Given the description of an element on the screen output the (x, y) to click on. 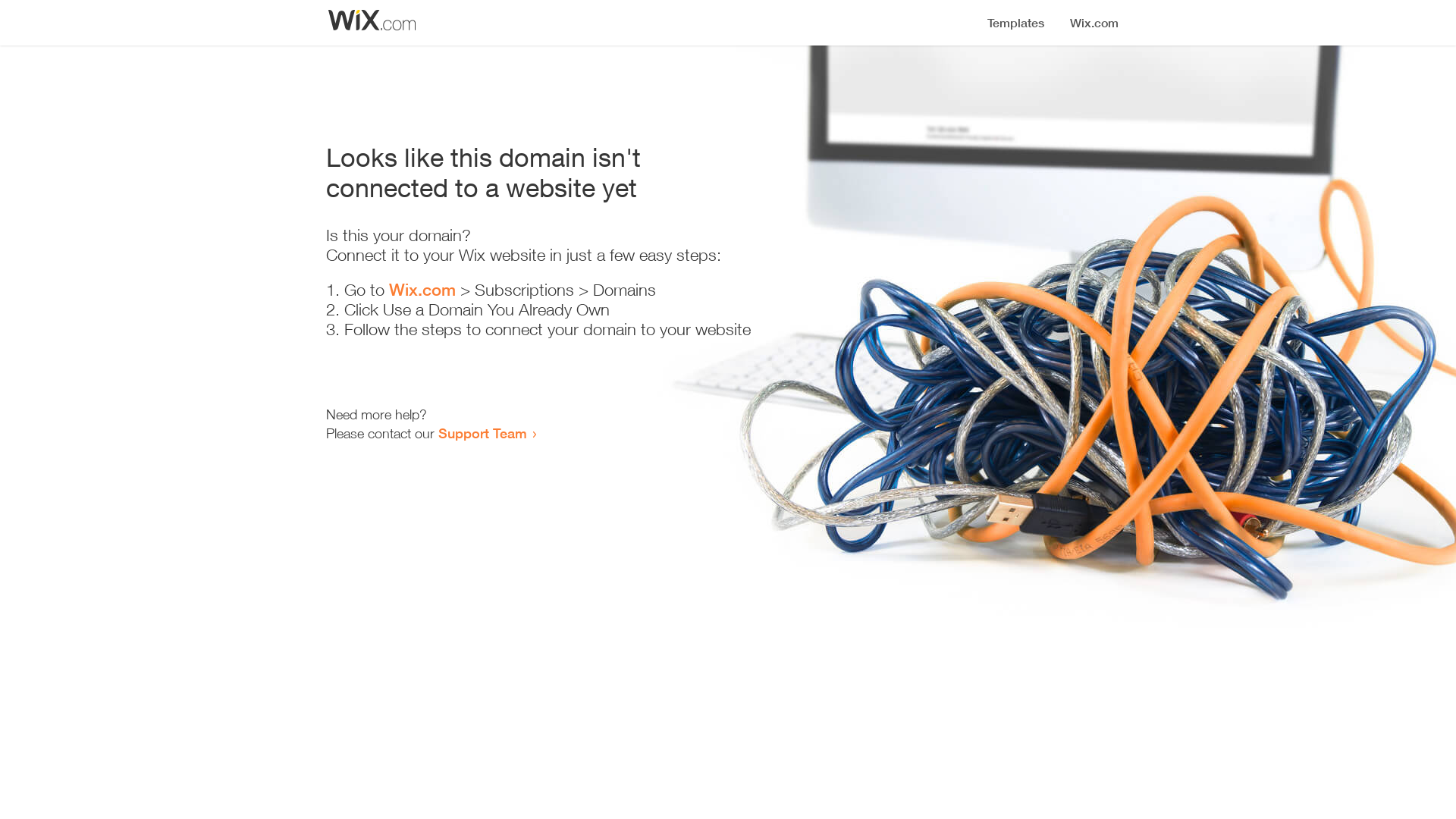
Wix.com Element type: text (422, 289)
Support Team Element type: text (482, 432)
